Given the description of an element on the screen output the (x, y) to click on. 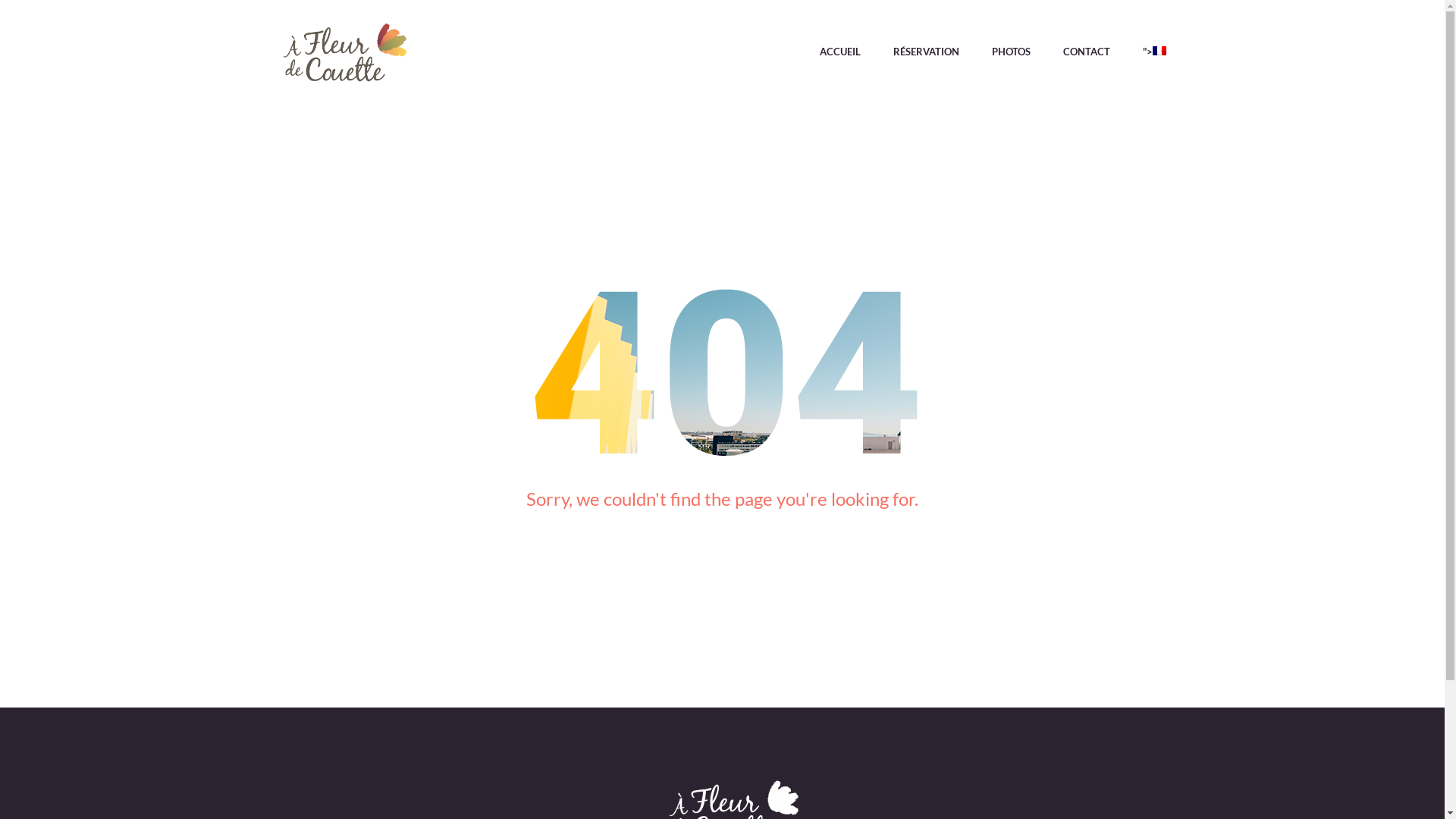
"> Element type: text (1145, 54)
afleurdecouette -  Element type: hover (345, 54)
ACCUEIL Element type: text (839, 54)
PHOTOS Element type: text (1010, 54)
CONTACT Element type: text (1086, 54)
